Given the description of an element on the screen output the (x, y) to click on. 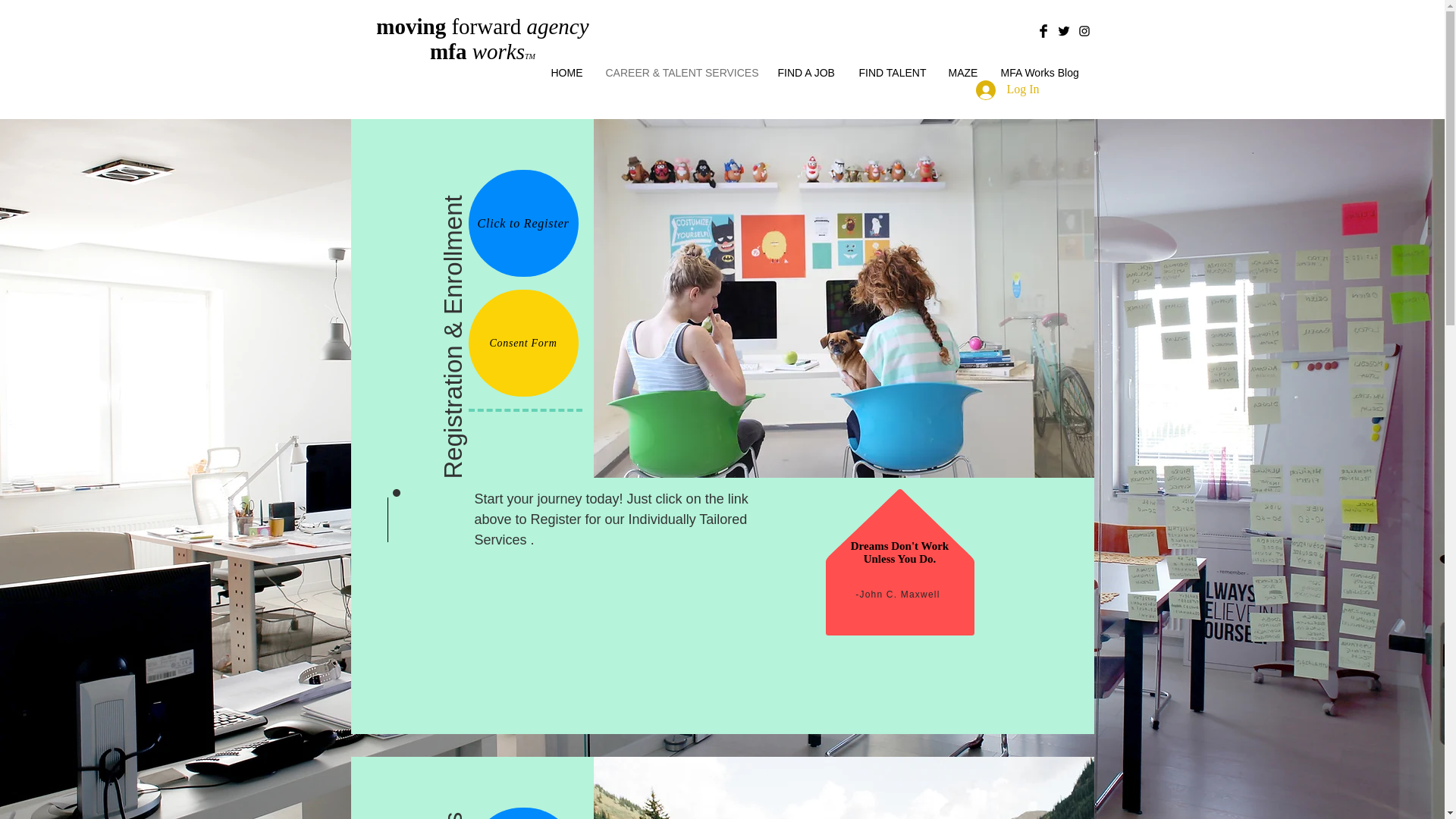
Assessment (523, 813)
FIND A JOB (806, 72)
HOME (567, 72)
MAZE (963, 72)
Click to Register (523, 222)
Log In (1007, 90)
MFA Works Blog (1039, 72)
Consent Form (523, 342)
FIND TALENT (892, 72)
moving forward agency (481, 26)
